Given the description of an element on the screen output the (x, y) to click on. 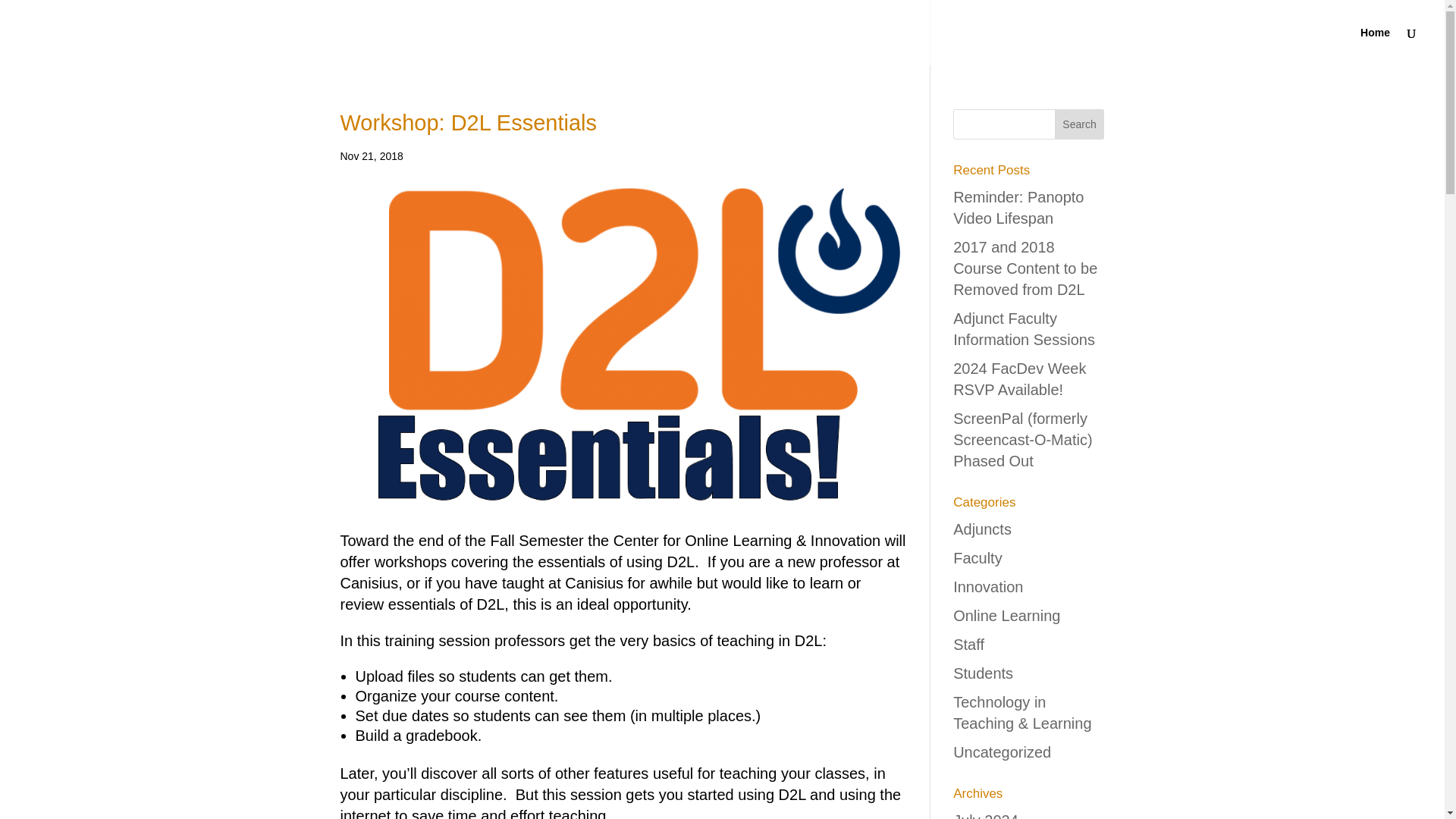
2017 and 2018 Course Content to be Removed from D2L (1025, 268)
Faculty (977, 557)
Online Learning (1006, 615)
Search (1079, 123)
Adjunct Faculty Information Sessions (1023, 329)
Uncategorized (1002, 751)
Reminder: Panopto Video Lifespan (1018, 207)
Students (983, 673)
Innovation (988, 586)
2024 FacDev Week RSVP Available! (1019, 379)
July 2024 (985, 815)
Search (1079, 123)
Adjuncts (982, 528)
Staff (968, 644)
